Given the description of an element on the screen output the (x, y) to click on. 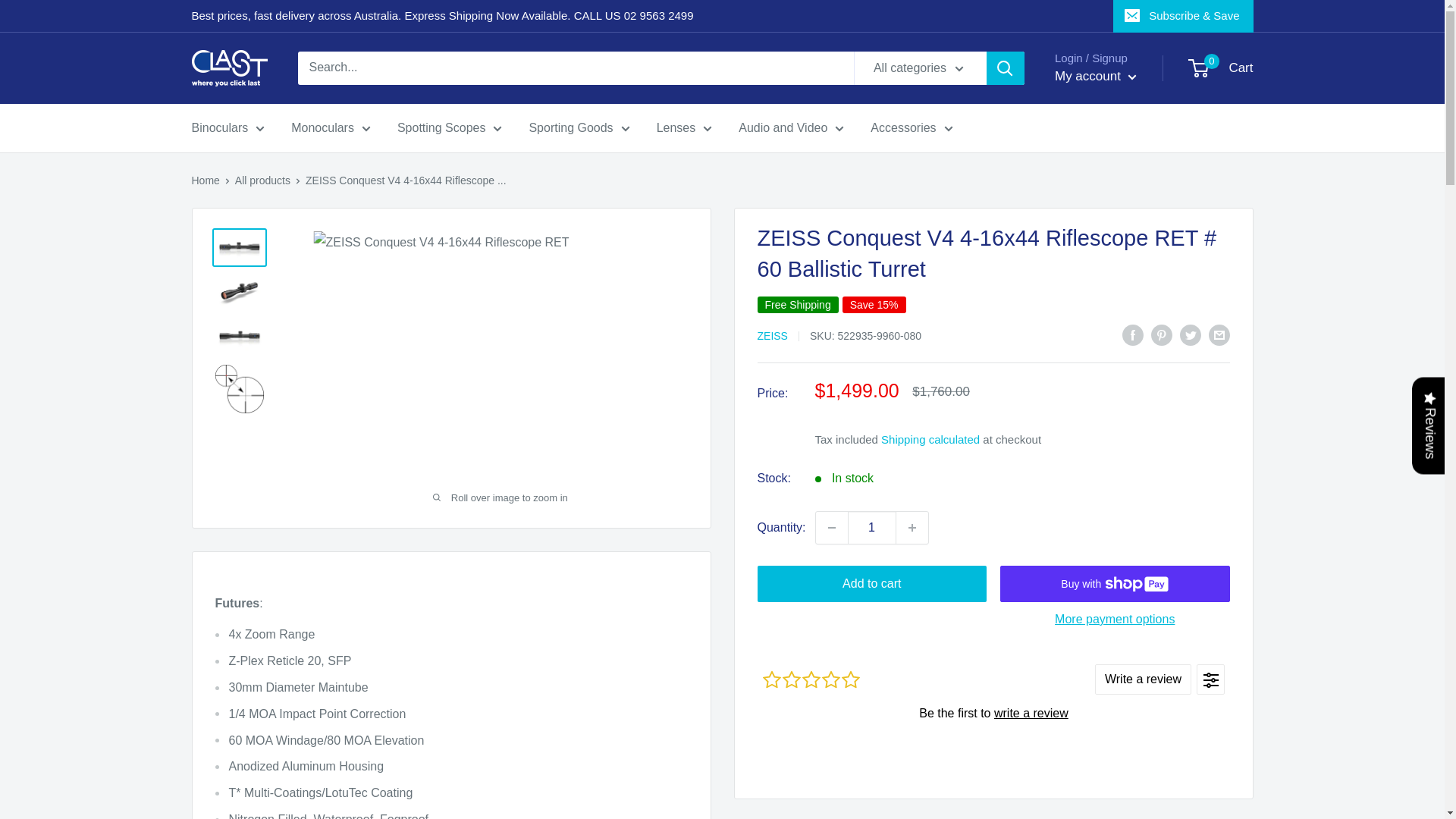
1 (871, 527)
Product reviews widget (992, 712)
Increase quantity by 1 (912, 527)
Decrease quantity by 1 (831, 527)
